Given the description of an element on the screen output the (x, y) to click on. 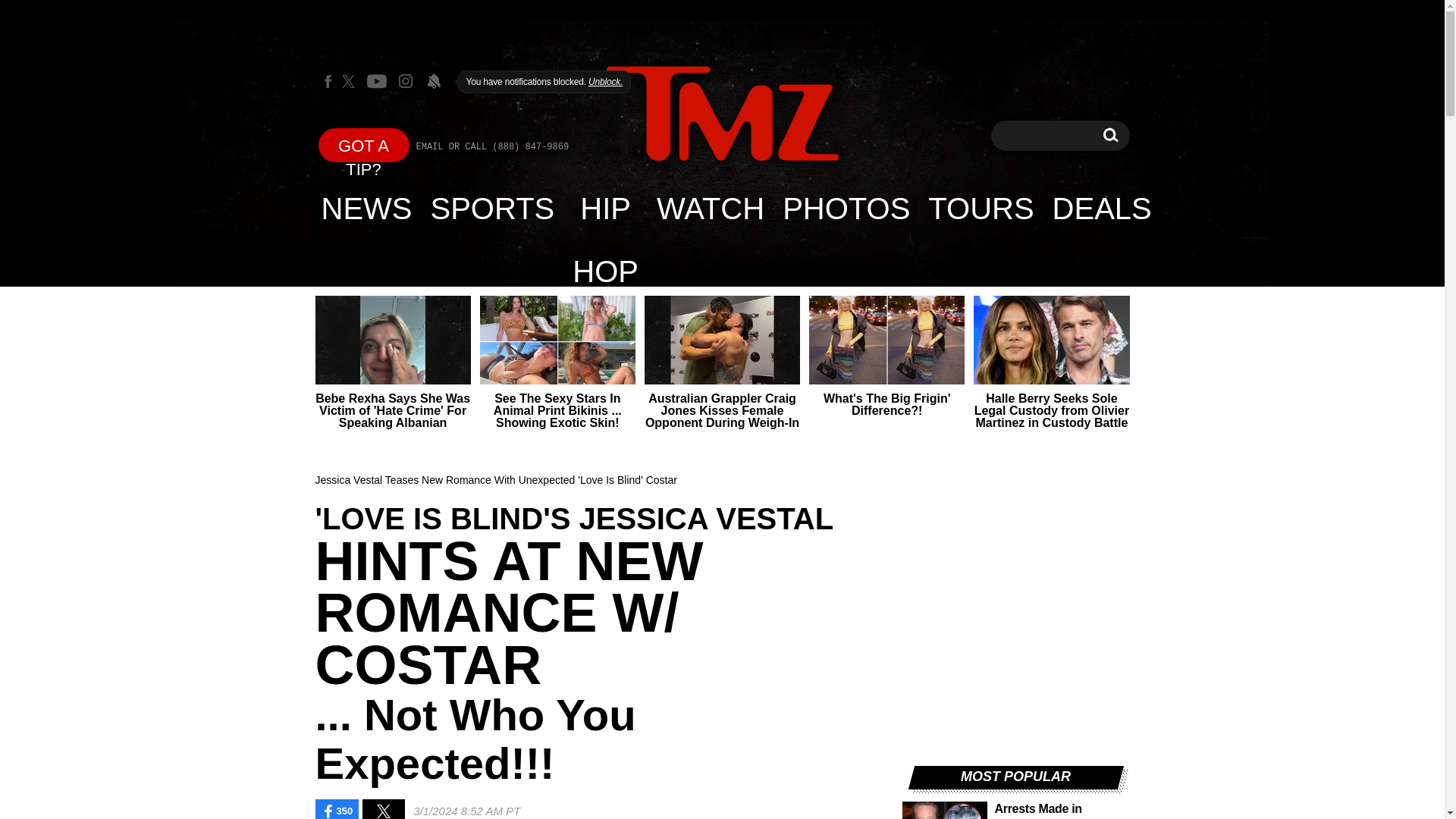
TOURS (980, 207)
NEWS (367, 207)
TMZ (722, 115)
SPORTS (493, 207)
PHOTOS (845, 207)
HIP HOP (605, 207)
GOT A TIP? (363, 144)
WATCH (710, 207)
Skip to main content (1110, 135)
